Given the description of an element on the screen output the (x, y) to click on. 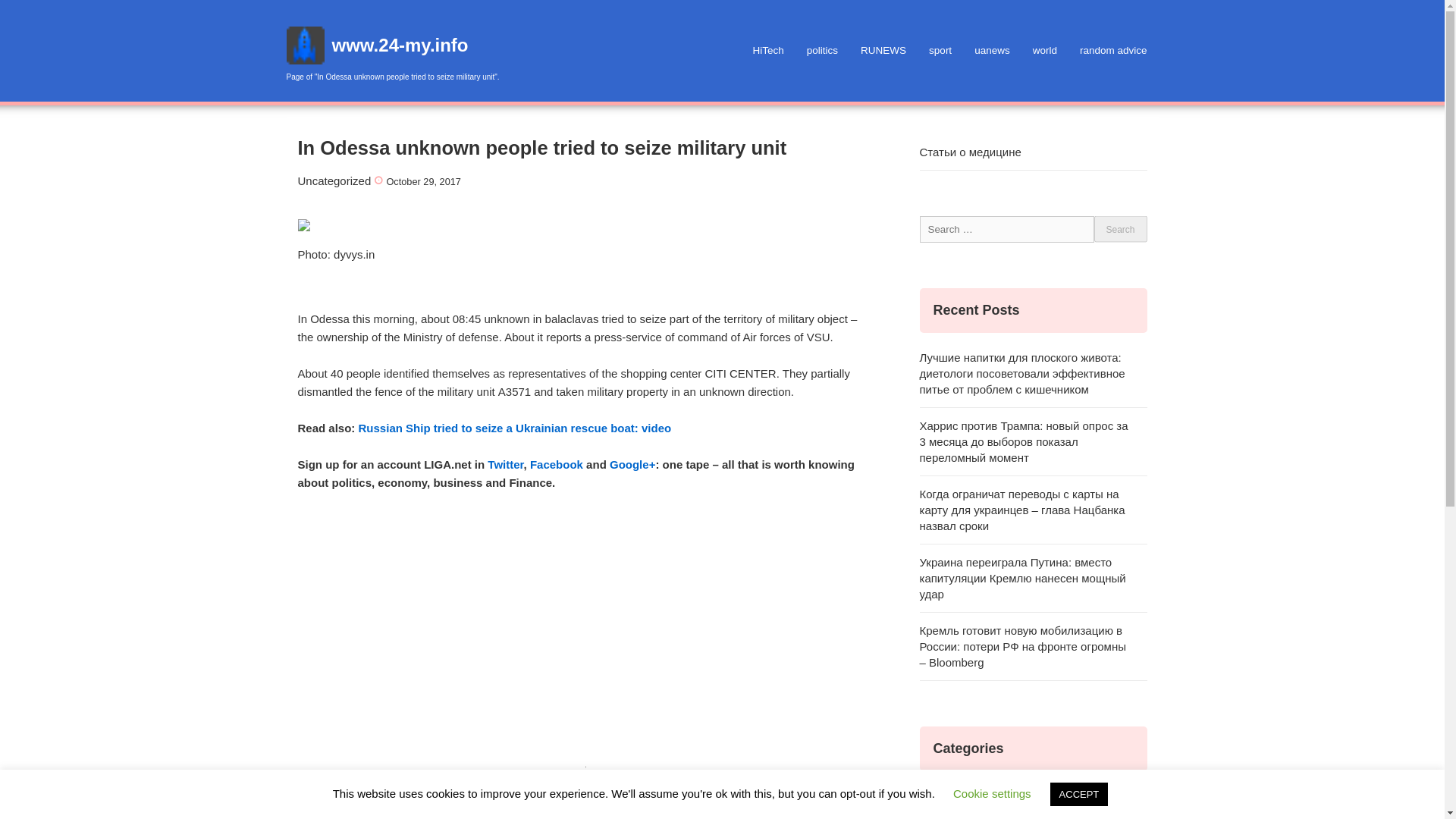
www.24-my.info (399, 45)
RUNEWS (882, 50)
ACCEPT (1078, 793)
world (1045, 50)
sport (939, 50)
Facebook (556, 463)
Search (1120, 228)
Twitter (504, 463)
uanews (992, 50)
Search (1120, 228)
